Given the description of an element on the screen output the (x, y) to click on. 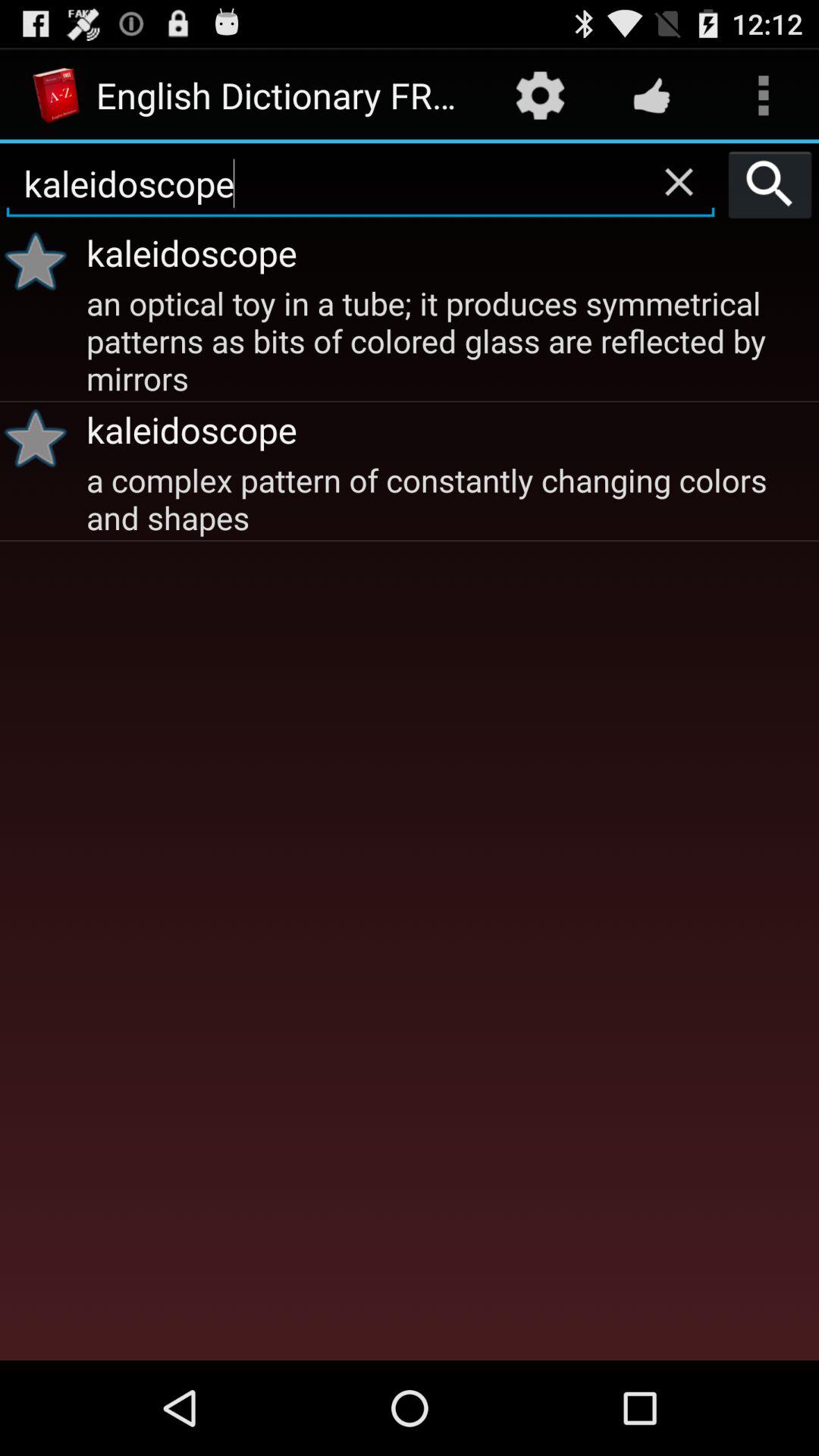
launch the app above kaleidoscope item (678, 181)
